Given the description of an element on the screen output the (x, y) to click on. 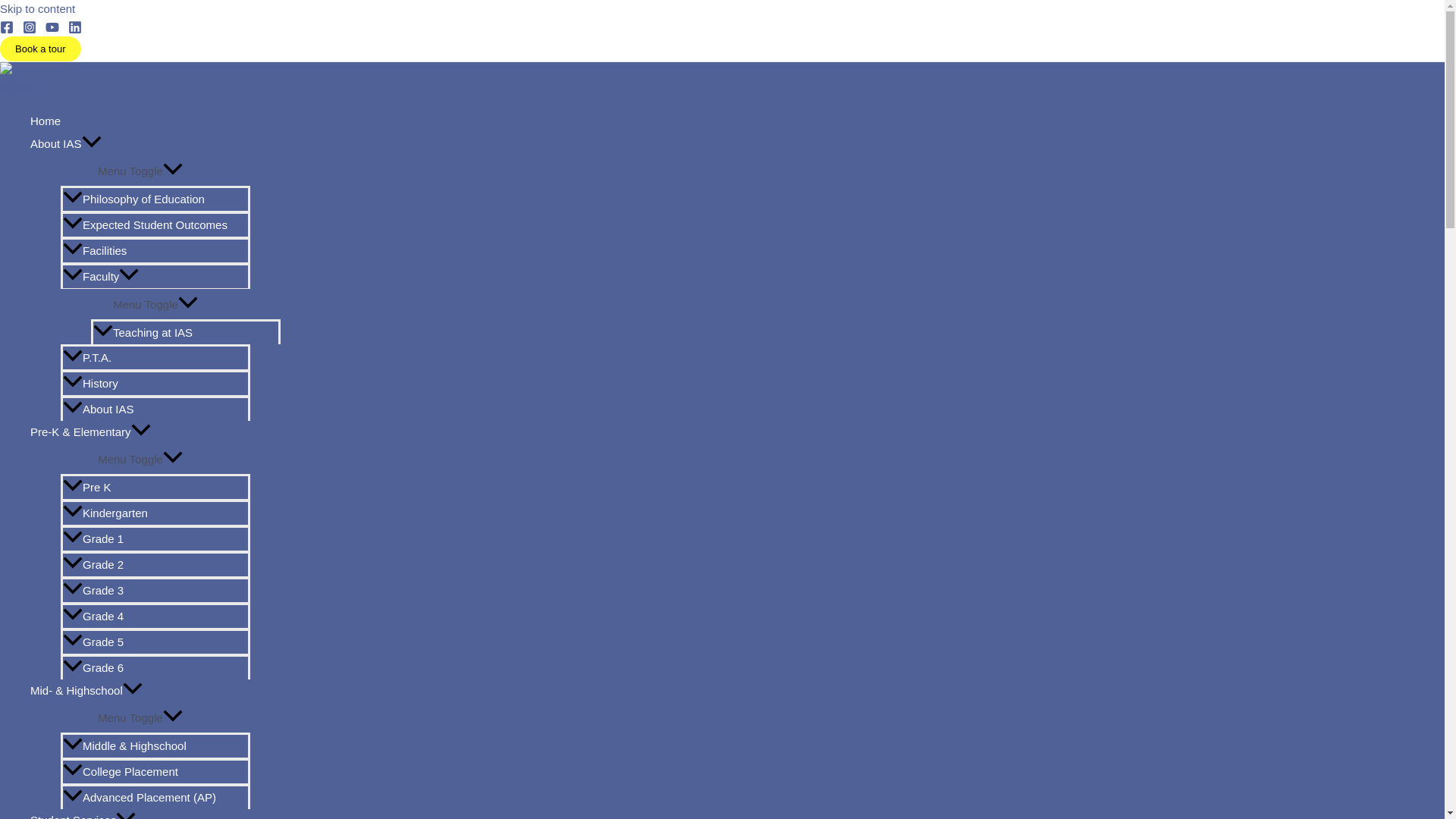
Grade 4 (155, 615)
Expected Student Outcomes (155, 224)
Teaching at IAS (185, 331)
Pre K (155, 486)
Student Services (140, 814)
History (155, 382)
Menu Toggle (140, 457)
Menu Toggle (155, 303)
Grade 2 (155, 564)
Grade 6 (155, 666)
